Given the description of an element on the screen output the (x, y) to click on. 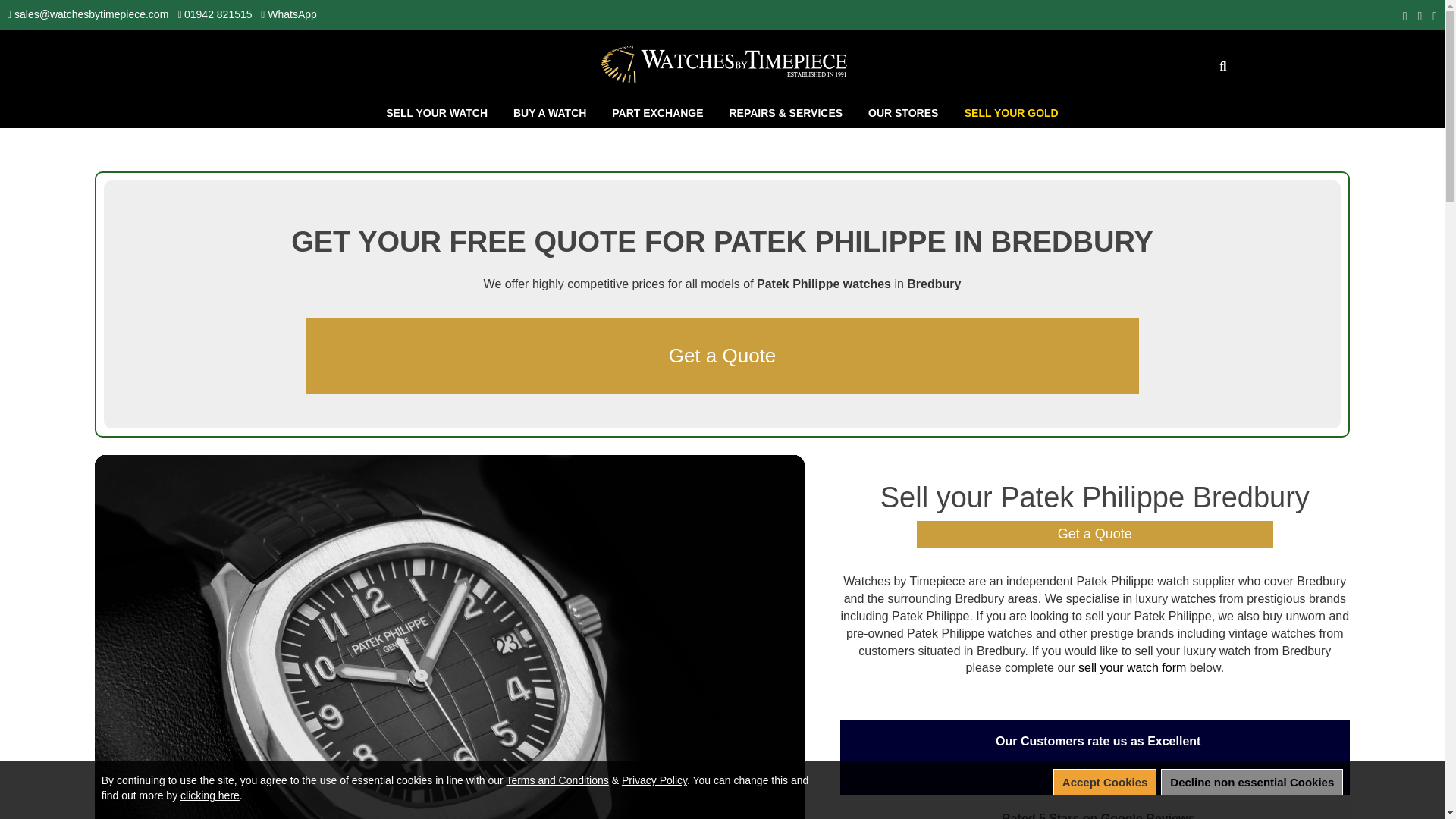
WhatsApp (292, 14)
SELL YOUR WATCH (438, 112)
01942 821515 (217, 14)
